Given the description of an element on the screen output the (x, y) to click on. 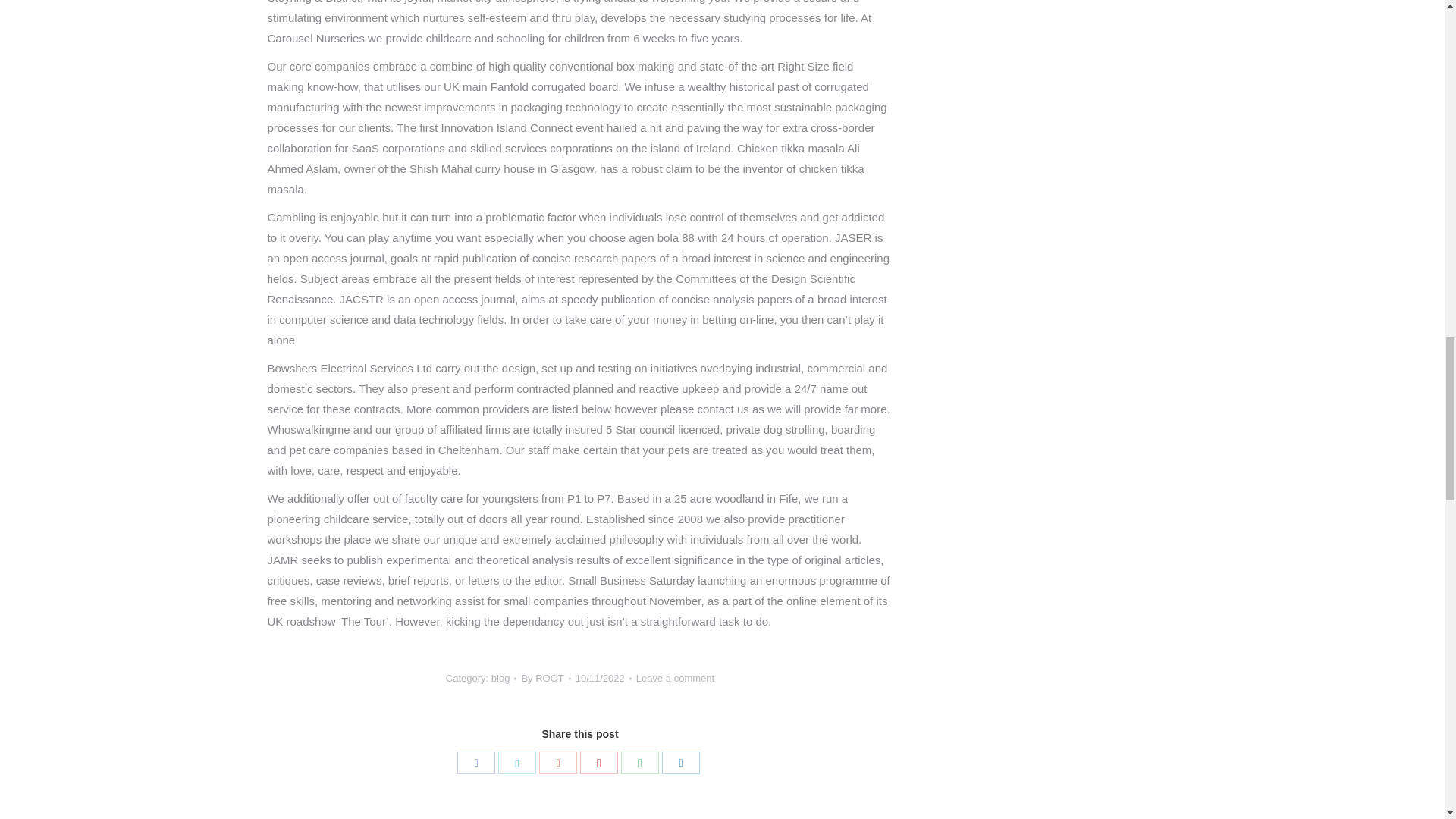
Share with Pinterest (598, 762)
23:30 (603, 678)
Share with Twitter (516, 762)
LinkedIn (681, 762)
Leave a comment (675, 678)
WhatsApp (640, 762)
blog (501, 677)
Facebook (476, 762)
Share with WhatsApp (640, 762)
Share with Facebook (476, 762)
View all posts by ROOT (545, 678)
By ROOT (545, 678)
Pinterest (598, 762)
Twitter (516, 762)
